Given the description of an element on the screen output the (x, y) to click on. 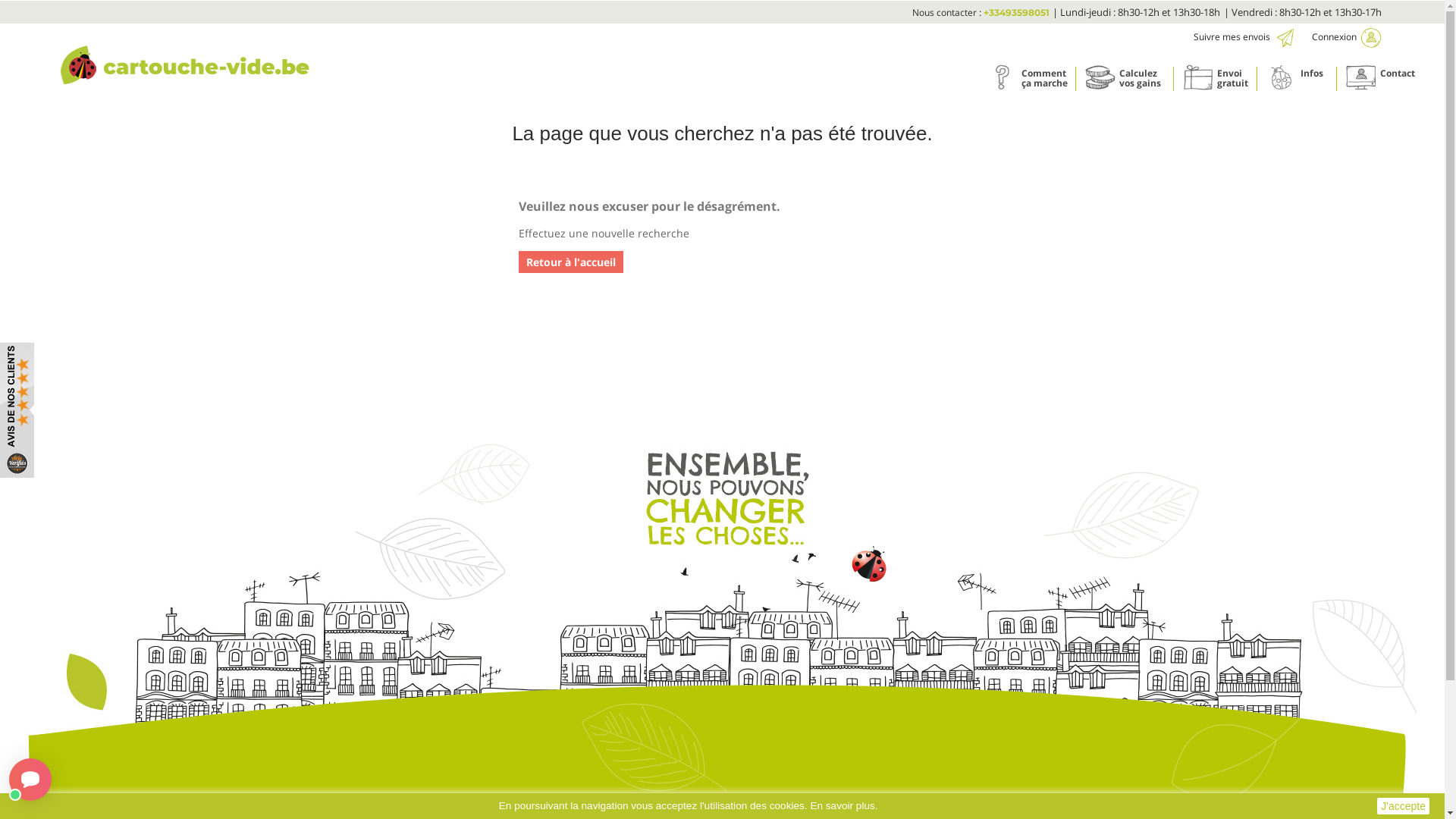
Envoi gratuit Element type: text (1219, 78)
J'accepte Element type: text (1403, 805)
Connexion Element type: text (1347, 36)
Infos Element type: text (1300, 78)
Contact Element type: text (1380, 78)
Smartsupp widget button Element type: hover (30, 779)
En savoir plus. Element type: text (843, 805)
Envoi gratuit Element type: hover (1197, 77)
Calculez vos gains Element type: hover (1100, 77)
+33493598051 Element type: text (1016, 12)
Contact Element type: hover (1360, 77)
Calculez vos gains Element type: text (1128, 78)
Infos Element type: hover (1281, 77)
Suivre mes envois Element type: text (1252, 36)
